Given the description of an element on the screen output the (x, y) to click on. 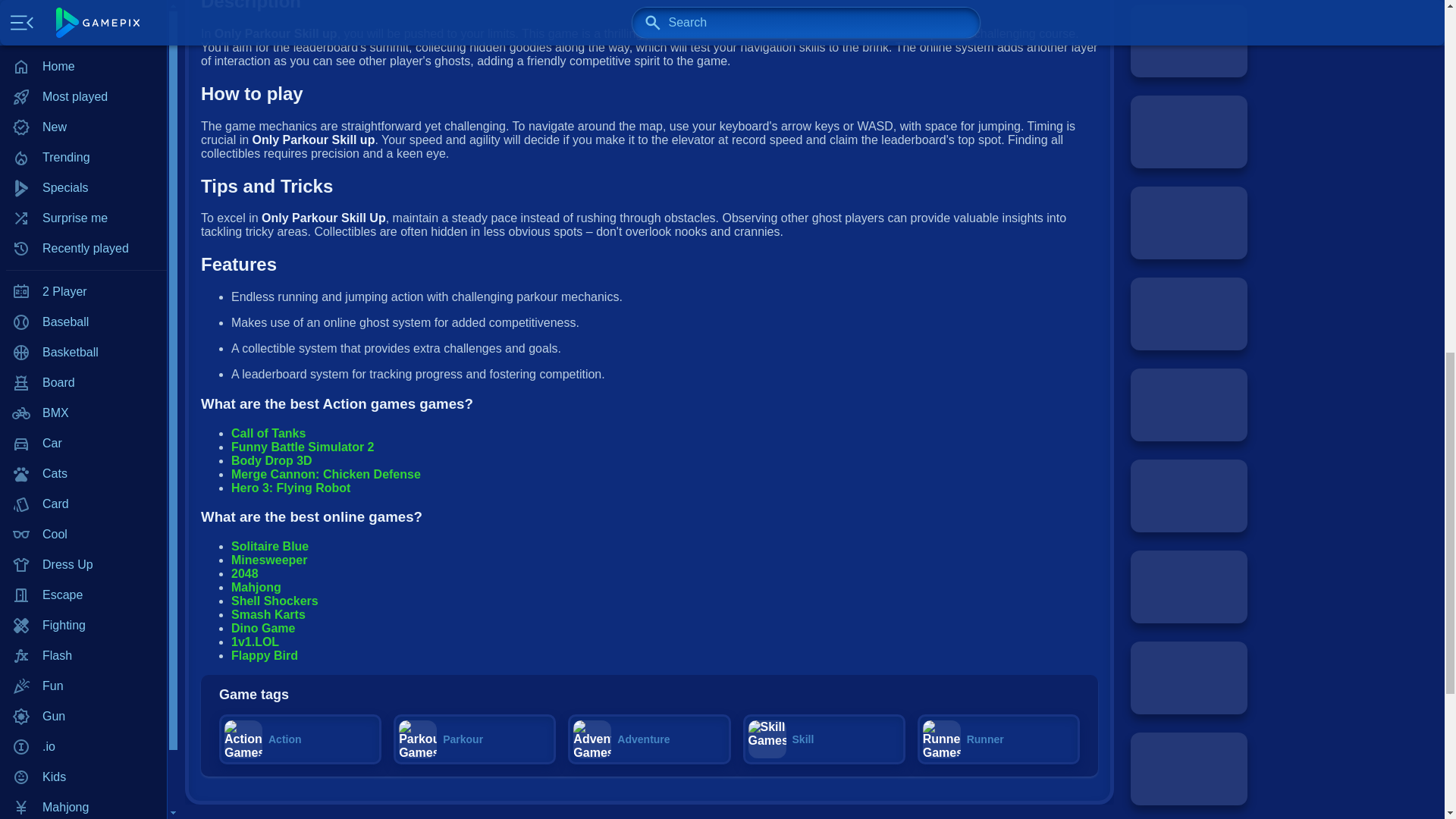
War (83, 322)
Puzzle (83, 110)
Mario (83, 19)
Zombie (83, 382)
Snake (83, 261)
Shooter (83, 200)
Racing (83, 140)
Mahjong (83, 2)
Math (83, 49)
RPG (83, 170)
